Given the description of an element on the screen output the (x, y) to click on. 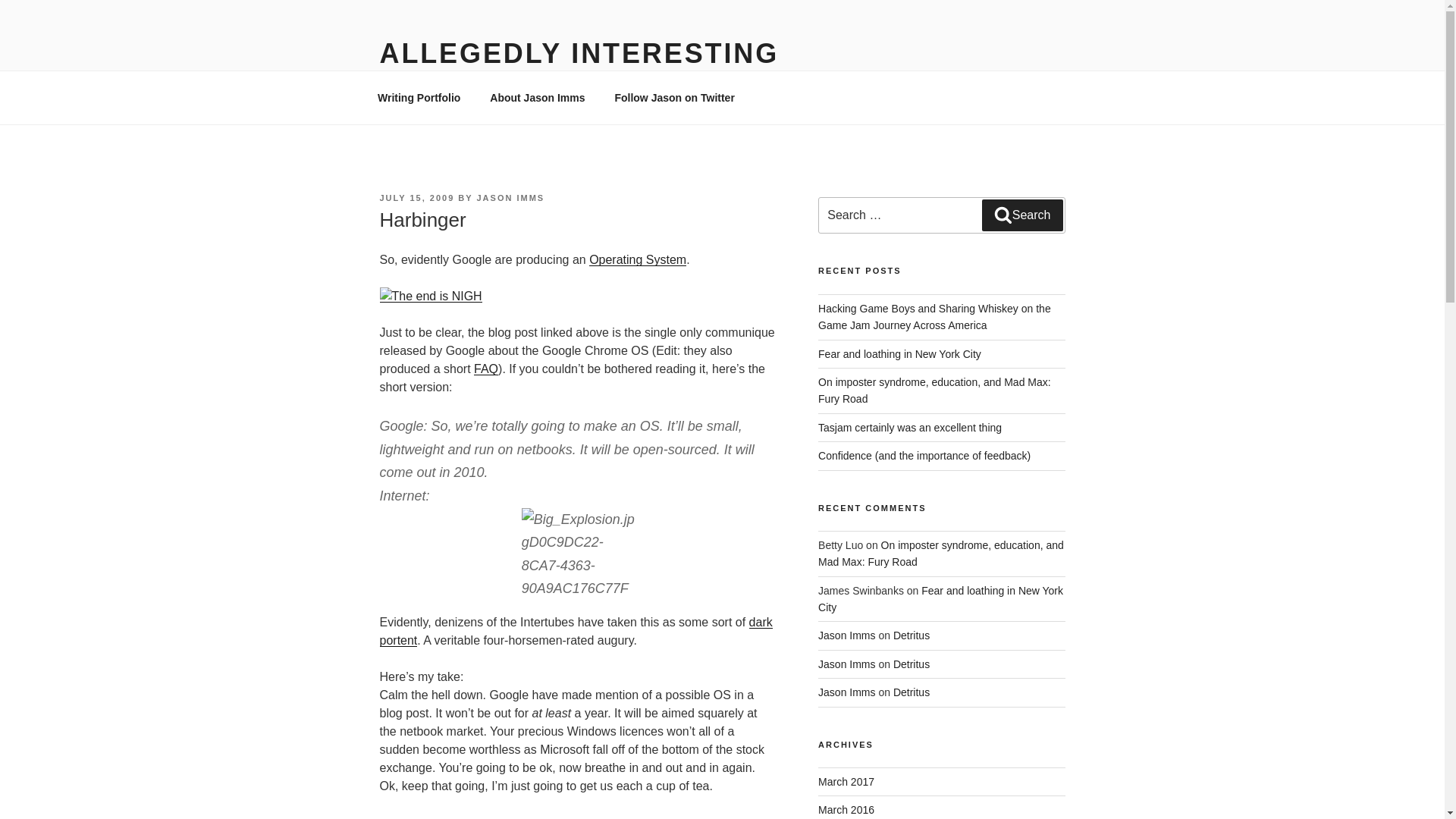
portent (397, 640)
JASON IMMS (510, 197)
About Jason Imms (537, 97)
JULY 15, 2009 (416, 197)
Search (1021, 214)
March 2016 (846, 809)
March 2017 (846, 781)
On imposter syndrome, education, and Mad Max: Fury Road (934, 389)
Detritus (911, 664)
The end is NIGH (429, 296)
Writing Portfolio (418, 97)
Follow Jason on Twitter (674, 97)
Jason Imms (846, 664)
FAQ (485, 368)
ALLEGEDLY INTERESTING (578, 52)
